Given the description of an element on the screen output the (x, y) to click on. 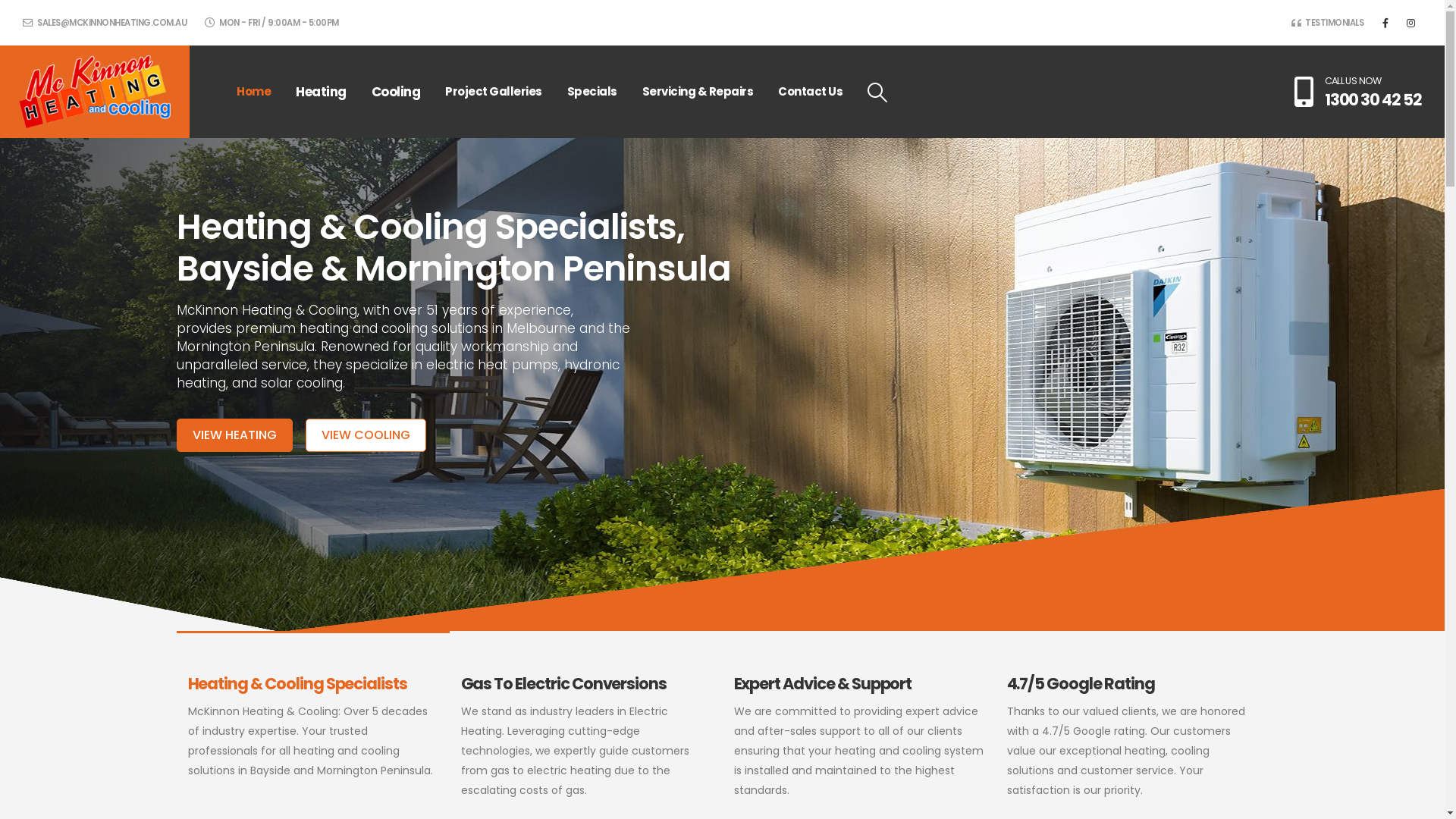
VIEW COOLING Element type: text (364, 434)
CALL US NOW
1300 30 42 52 Element type: text (1357, 91)
TESTIMONIALS Element type: text (1326, 22)
VIEW HEATING Element type: text (233, 434)
Project Galleries Element type: text (493, 91)
Specials Element type: text (592, 91)
Heating Element type: text (320, 91)
Home Element type: text (253, 91)
Contact Us Element type: text (809, 91)
Cooling Element type: text (396, 91)
McKinnon Heating & Cooling -  Element type: hover (94, 91)
Instagram Element type: hover (1410, 22)
Servicing & Repairs Element type: text (697, 91)
Facebook Element type: hover (1385, 22)
SALES@MCKINNONHEATING.COM.AU Element type: text (104, 22)
